Given the description of an element on the screen output the (x, y) to click on. 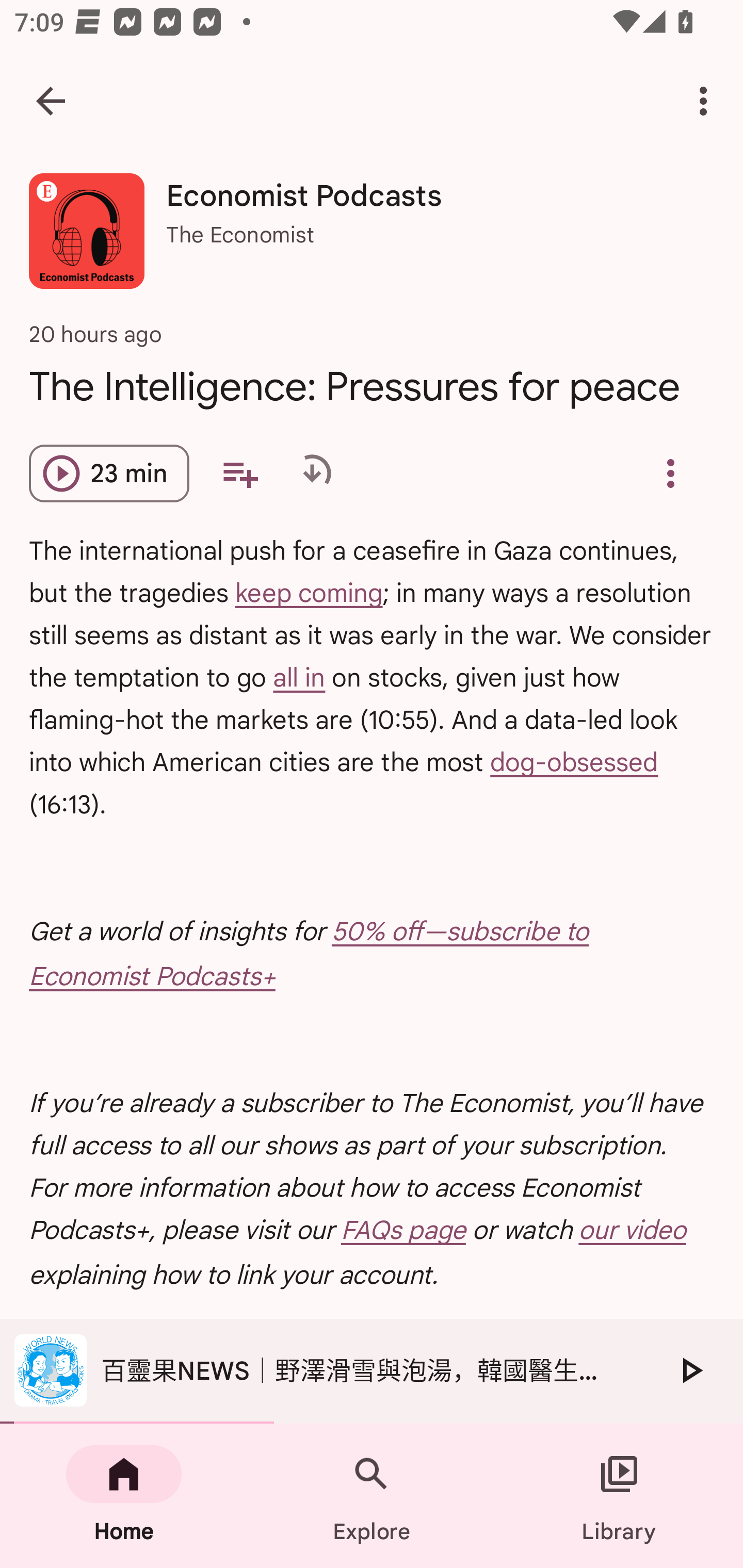
Navigate up (50, 101)
More options (706, 101)
Add to your queue (239, 473)
Queued to download - double tap for options (312, 473)
Overflow menu (670, 473)
Play (690, 1370)
Explore (371, 1495)
Library (619, 1495)
